Given the description of an element on the screen output the (x, y) to click on. 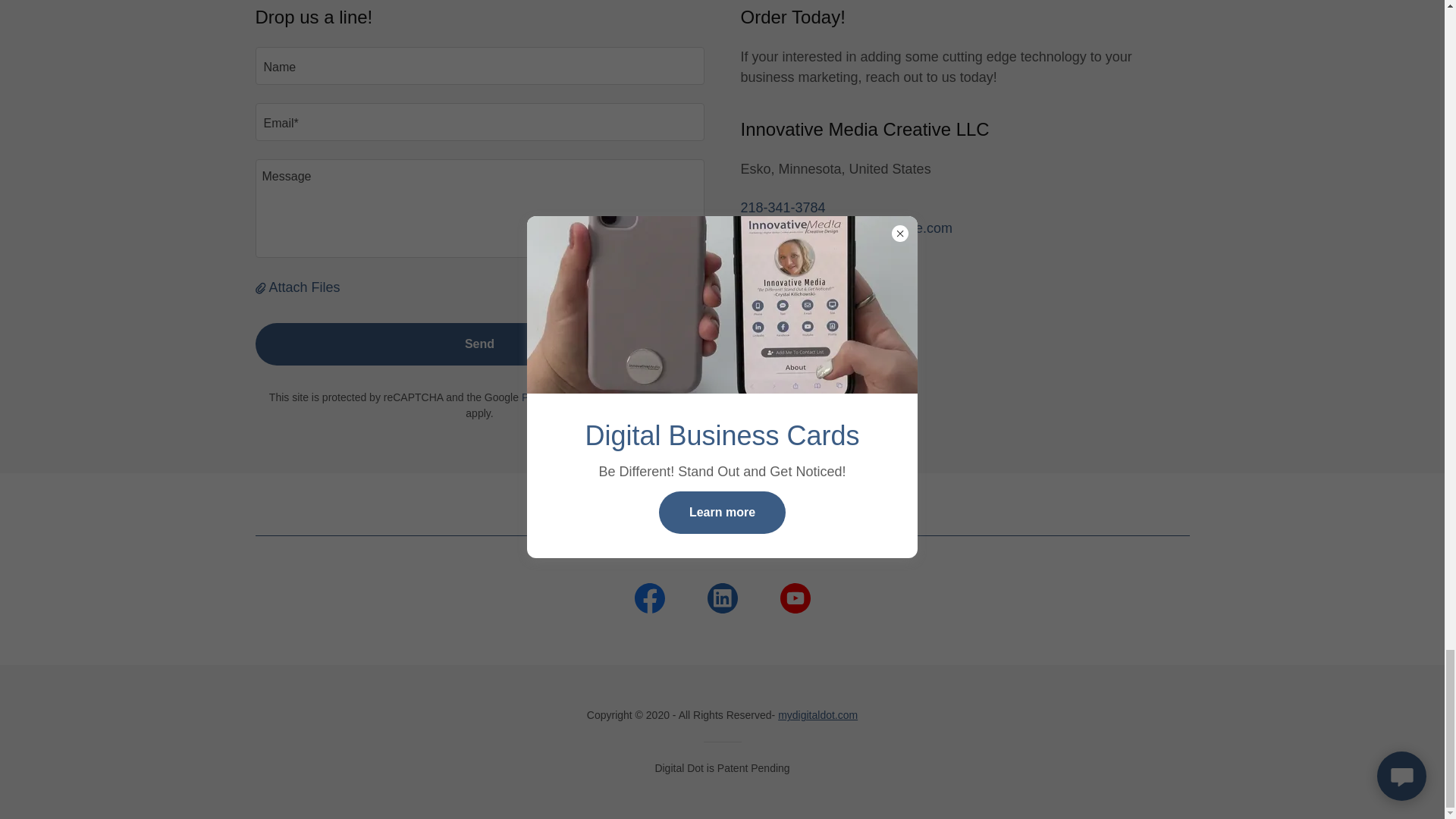
innovativemediacreative.com (827, 268)
218-341-3784 (782, 207)
Send (478, 343)
Terms of Service (650, 397)
myinnovativecard.com (807, 289)
mydigitaldot.com (817, 715)
Privacy Policy (554, 397)
